Given the description of an element on the screen output the (x, y) to click on. 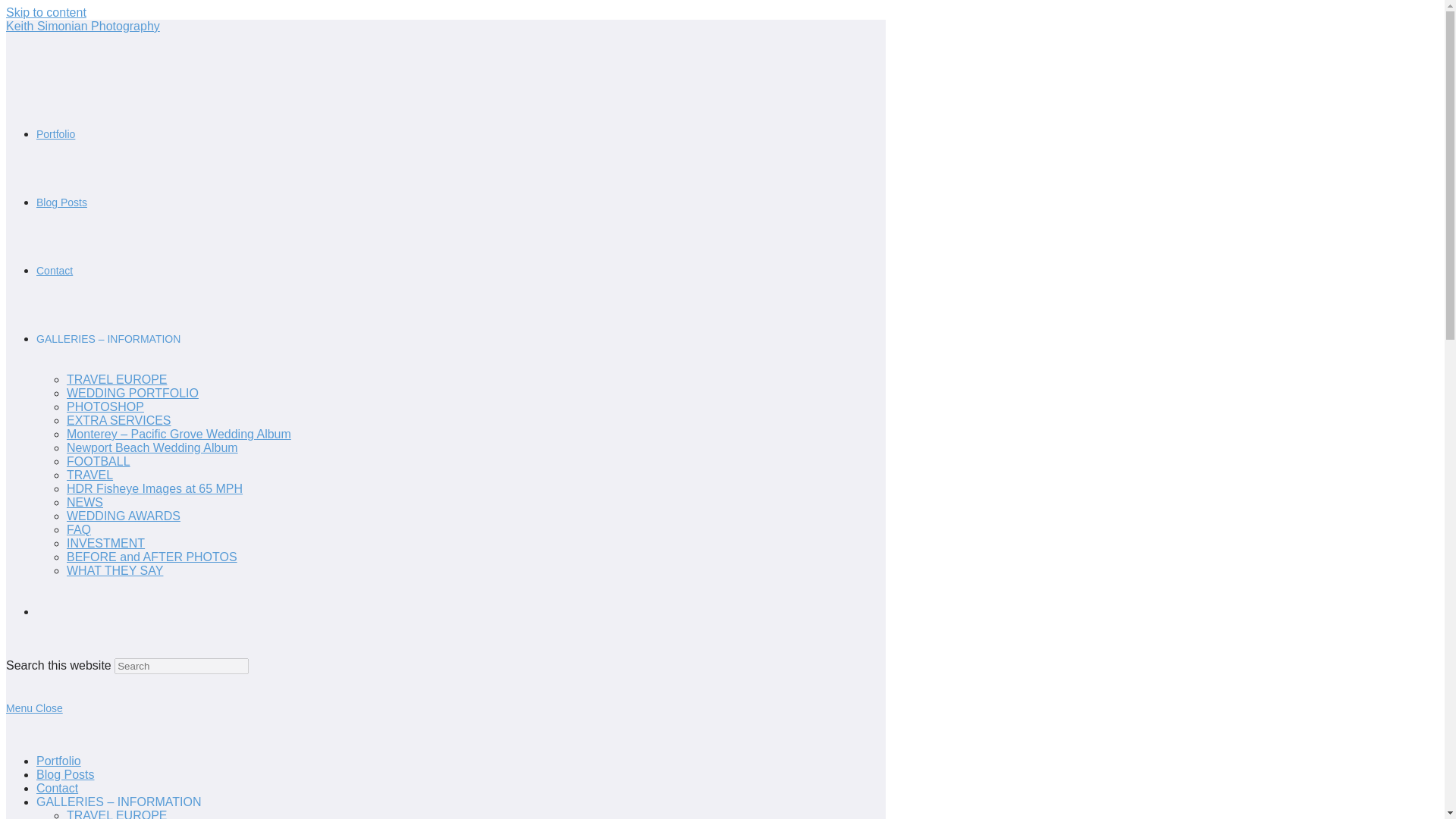
WEDDING AWARDS (123, 515)
FAQ (78, 529)
Contact (54, 270)
TRAVEL EUROPE (116, 814)
Both College and NFL Football images spanning over 25 years (98, 461)
FOOTBALL (98, 461)
HDR Fisheye Images at 65 MPH (154, 488)
Contact (57, 788)
Portfolio (58, 760)
Useful information provided by KSimonain.com (118, 420)
NEWS (84, 502)
Skip to content (45, 11)
